Given the description of an element on the screen output the (x, y) to click on. 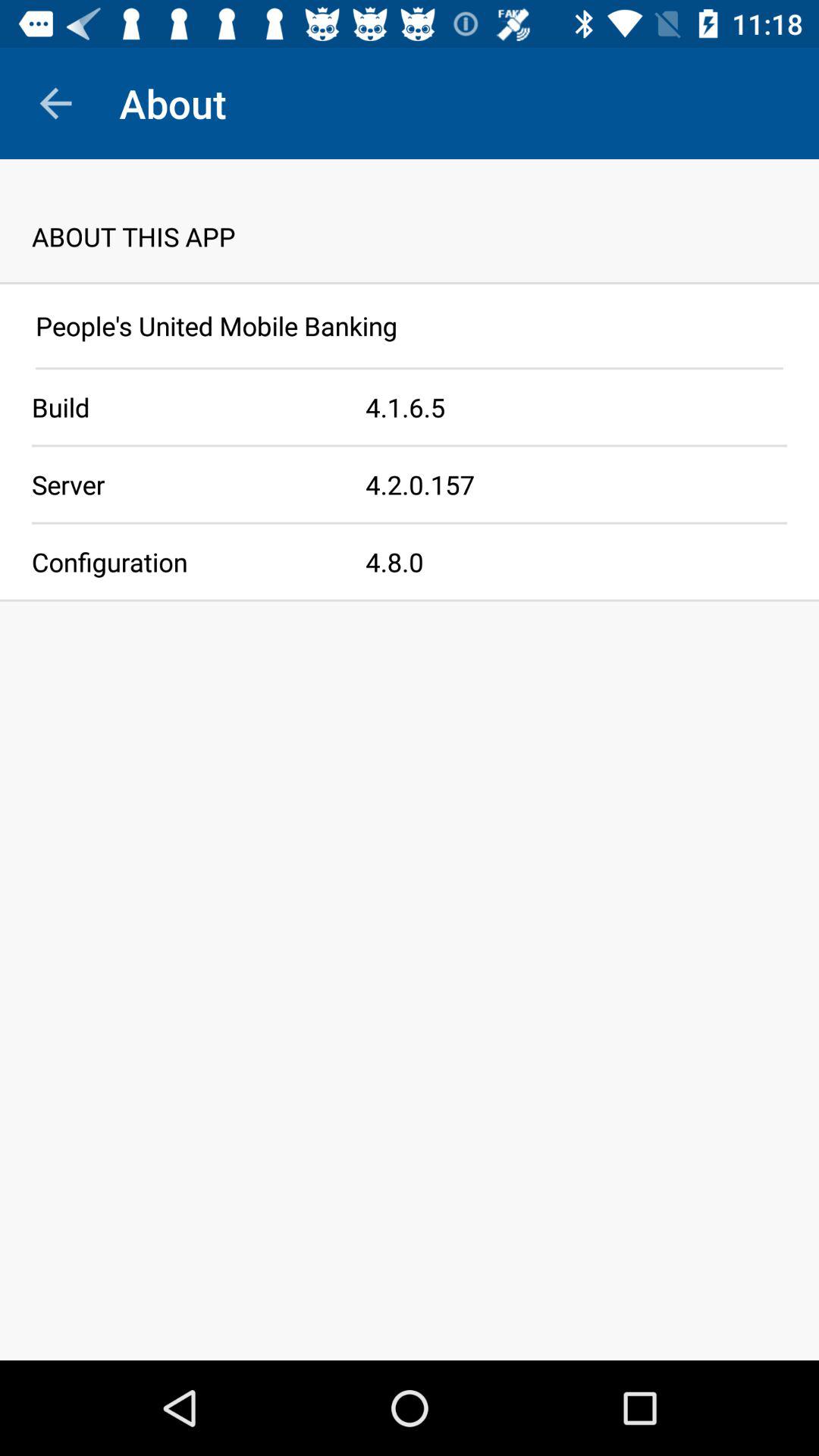
scroll to the about this app icon (409, 220)
